Given the description of an element on the screen output the (x, y) to click on. 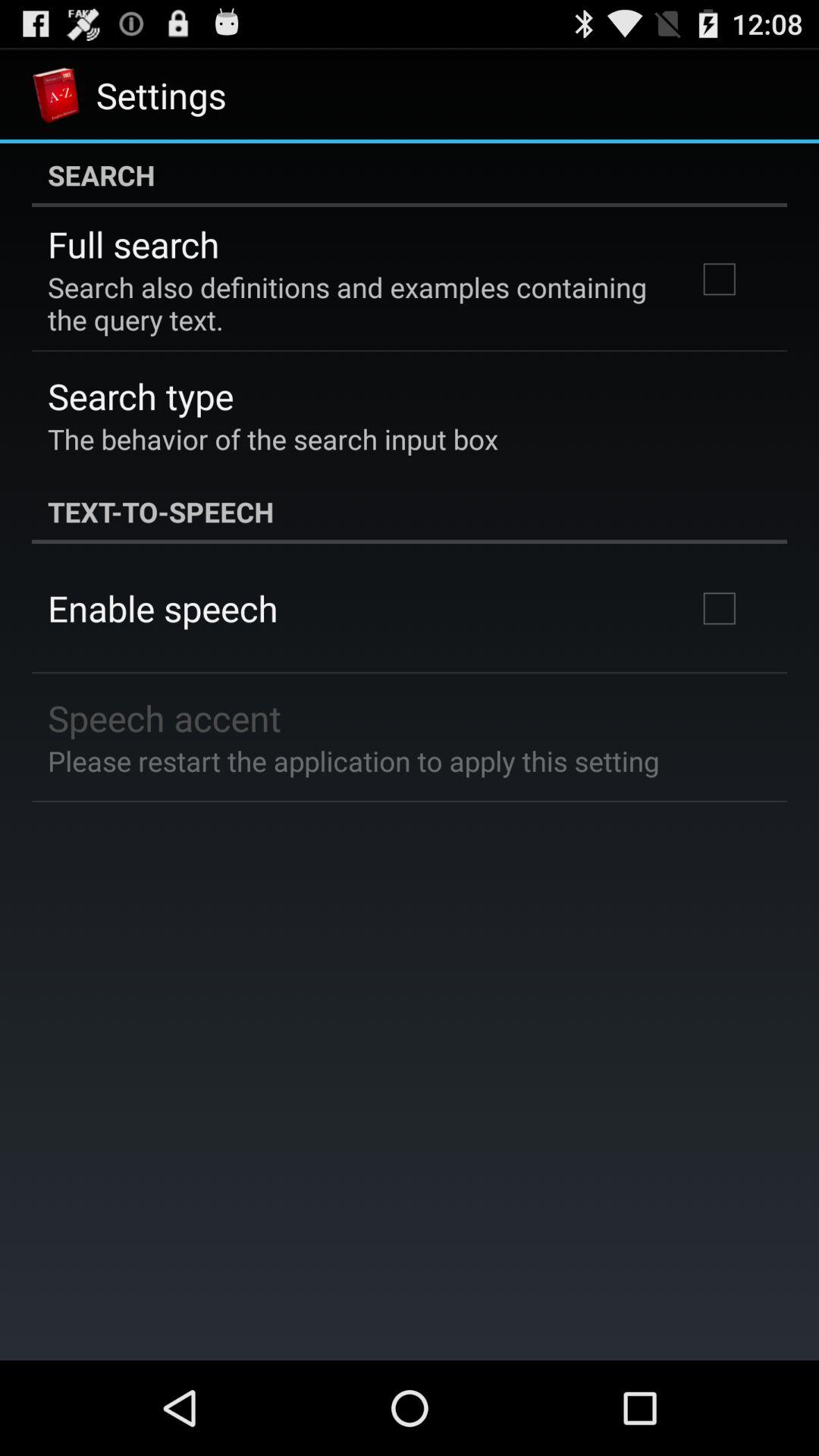
click on the square box to the right of full search text (719, 279)
click on check the box to the right of enable speech (719, 608)
